Given the description of an element on the screen output the (x, y) to click on. 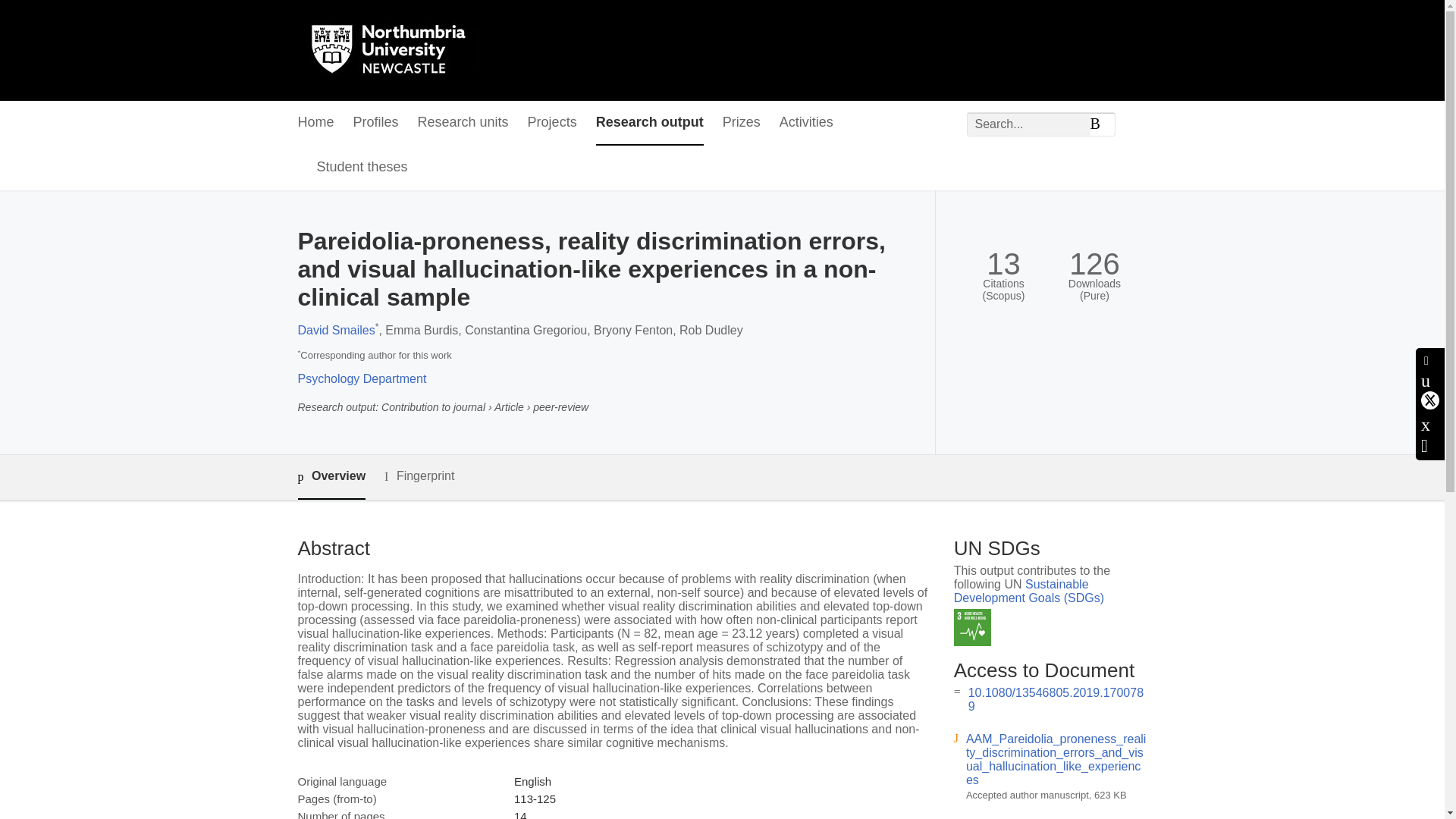
Profiles (375, 122)
Research units (462, 122)
Student theses (362, 167)
Psychology Department (361, 378)
Research output (649, 122)
Overview (331, 477)
Activities (805, 122)
Projects (551, 122)
Fingerprint (419, 476)
SDG 3 - Good Health and Well-being (972, 627)
David Smailes (335, 329)
Northumbria University Research Portal Home (398, 50)
